Given the description of an element on the screen output the (x, y) to click on. 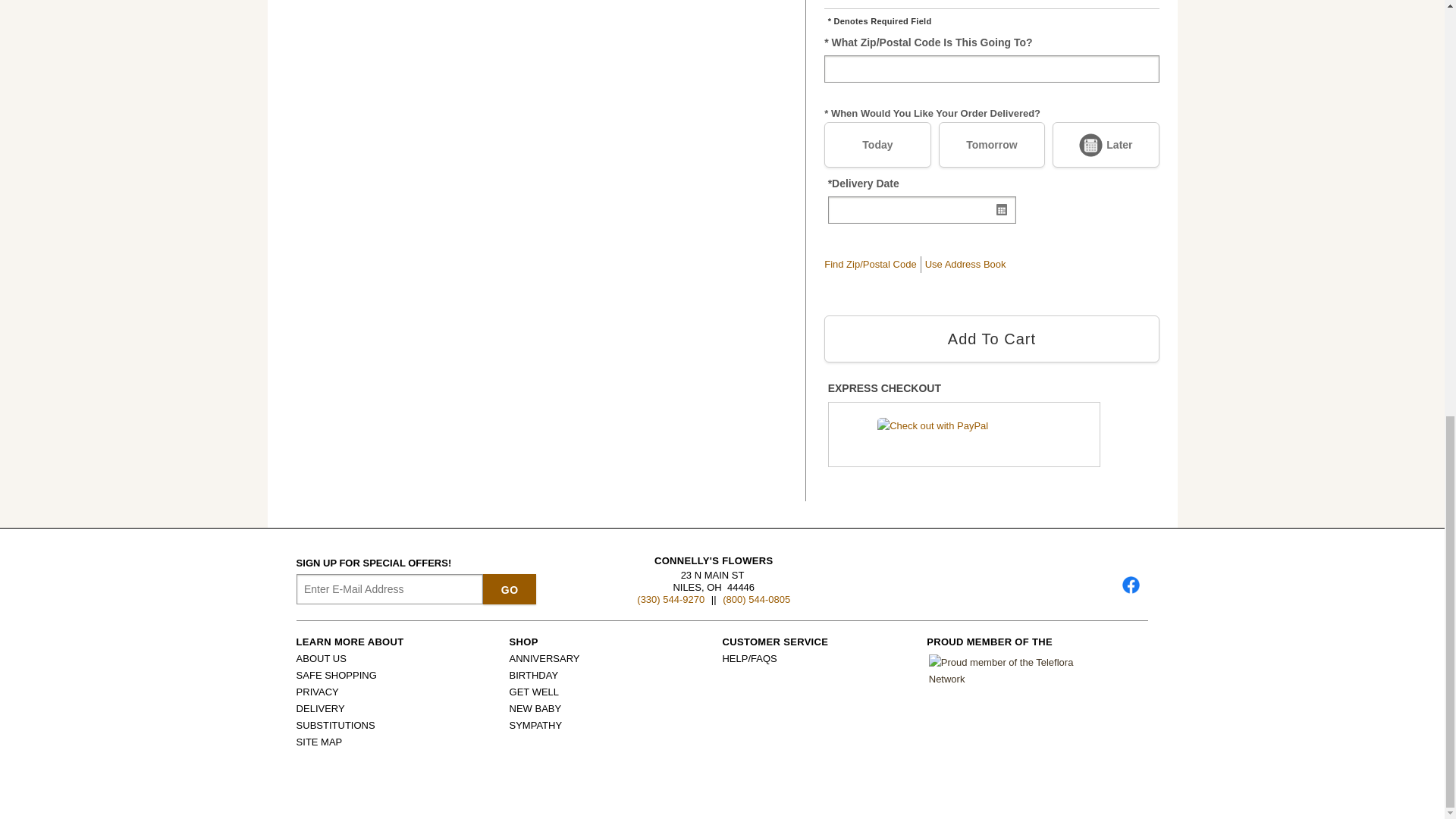
Go (509, 589)
Email Sign up (390, 589)
go (509, 589)
